Given the description of an element on the screen output the (x, y) to click on. 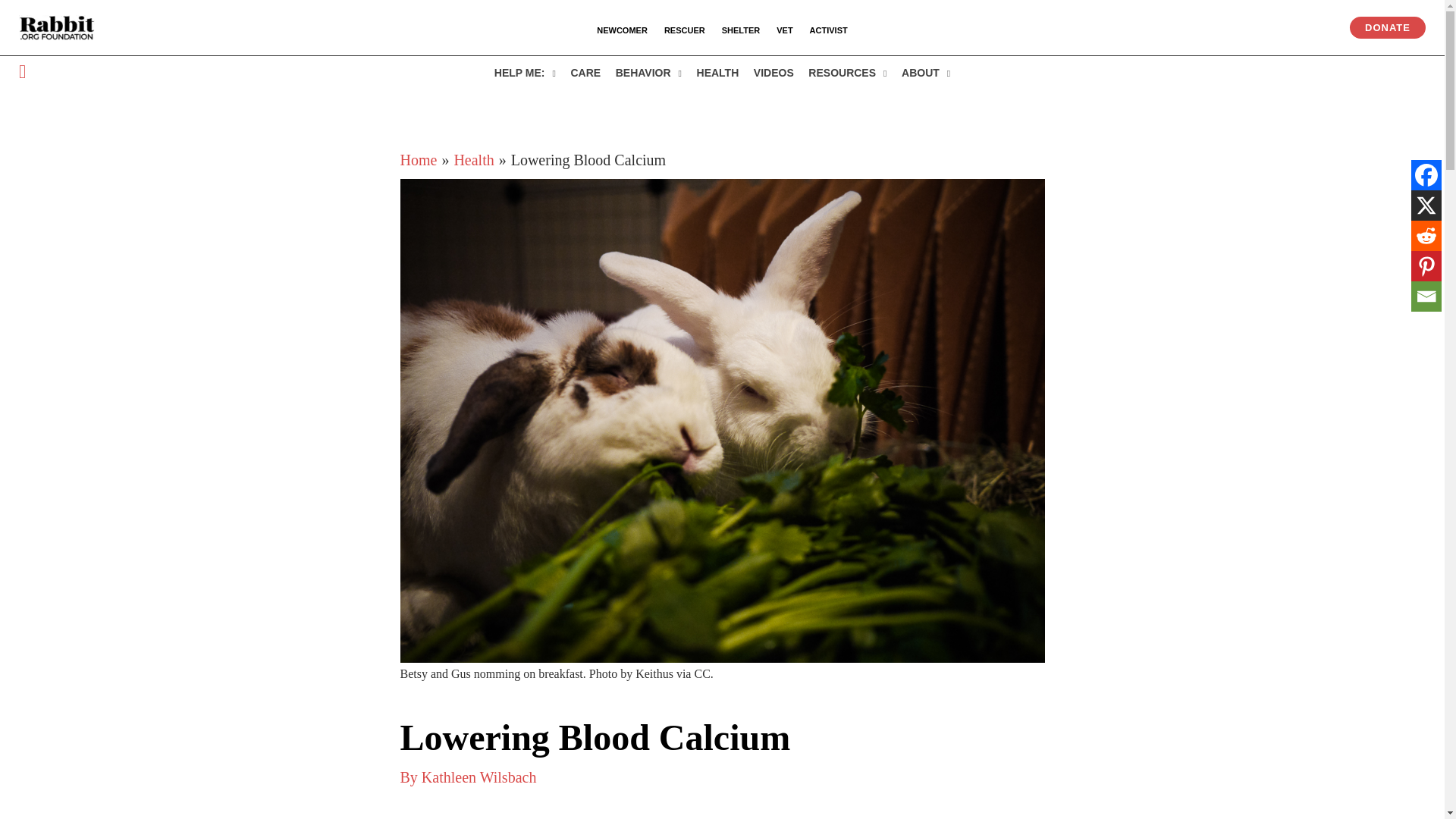
VET (784, 29)
ACTIVIST (829, 29)
VIDEOS (773, 72)
RESCUER (684, 29)
CARE (585, 72)
View all posts by Kathleen Wilsbach (479, 777)
NEWCOMER (622, 29)
BEHAVIOR (648, 72)
Facebook (1425, 174)
RESOURCES (848, 72)
HEALTH (716, 72)
HELP ME: (524, 72)
DONATE (1387, 27)
SHELTER (740, 29)
Pinterest (1425, 265)
